Given the description of an element on the screen output the (x, y) to click on. 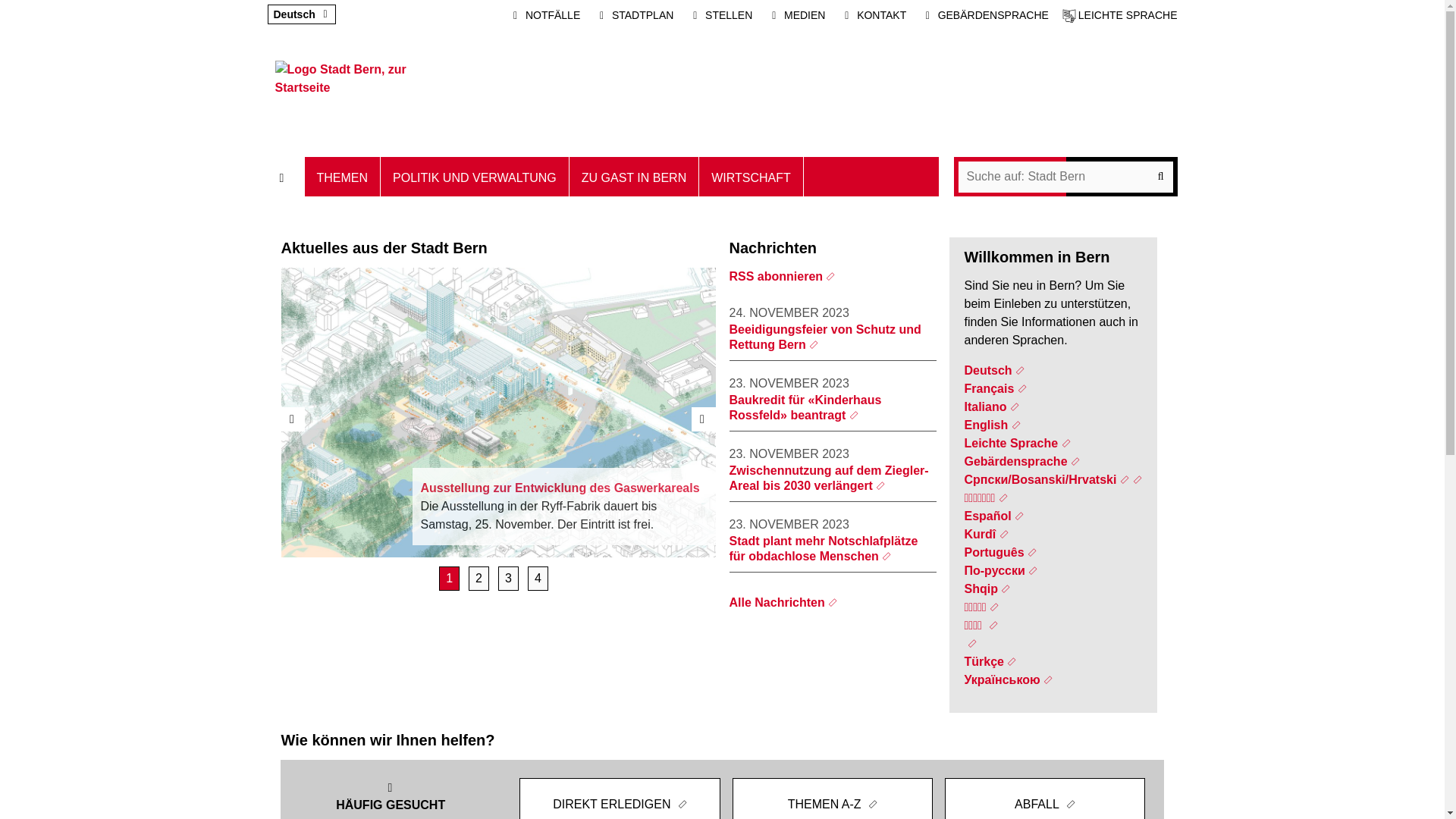
THEMEN Element type: text (342, 176)
WIRTSCHAFT Element type: text (751, 176)
STADTPLAN Element type: text (633, 15)
Deutsch Element type: text (293, 14)
Shqip Element type: text (986, 588)
English Element type: text (991, 424)
Leichte Sprache Element type: text (1016, 442)
Abstimmungen vom 19. November Element type: text (508, 578)
Beeidigungsfeier von Schutz und Rettung Bern Element type: text (825, 337)
Ausstellung zur Entwicklung des Gaswerkareals Element type: text (449, 578)
STARTSEITE Element type: text (285, 176)
POLITIK UND VERWALTUNG Element type: text (474, 176)
RSS abonnieren Element type: text (782, 275)
Alle Nachrichten Element type: text (783, 602)
LEICHTE SPRACHE Element type: text (1119, 15)
STELLEN Element type: text (719, 15)
ZU GAST IN BERN Element type: text (634, 176)
Suchen Element type: hover (1065, 176)
Stadt Bern Element type: hover (341, 90)
MEDIEN Element type: text (795, 15)
Deutsch Element type: text (993, 370)
Italiano Element type: text (991, 406)
KONTAKT Element type: text (872, 15)
